Given the description of an element on the screen output the (x, y) to click on. 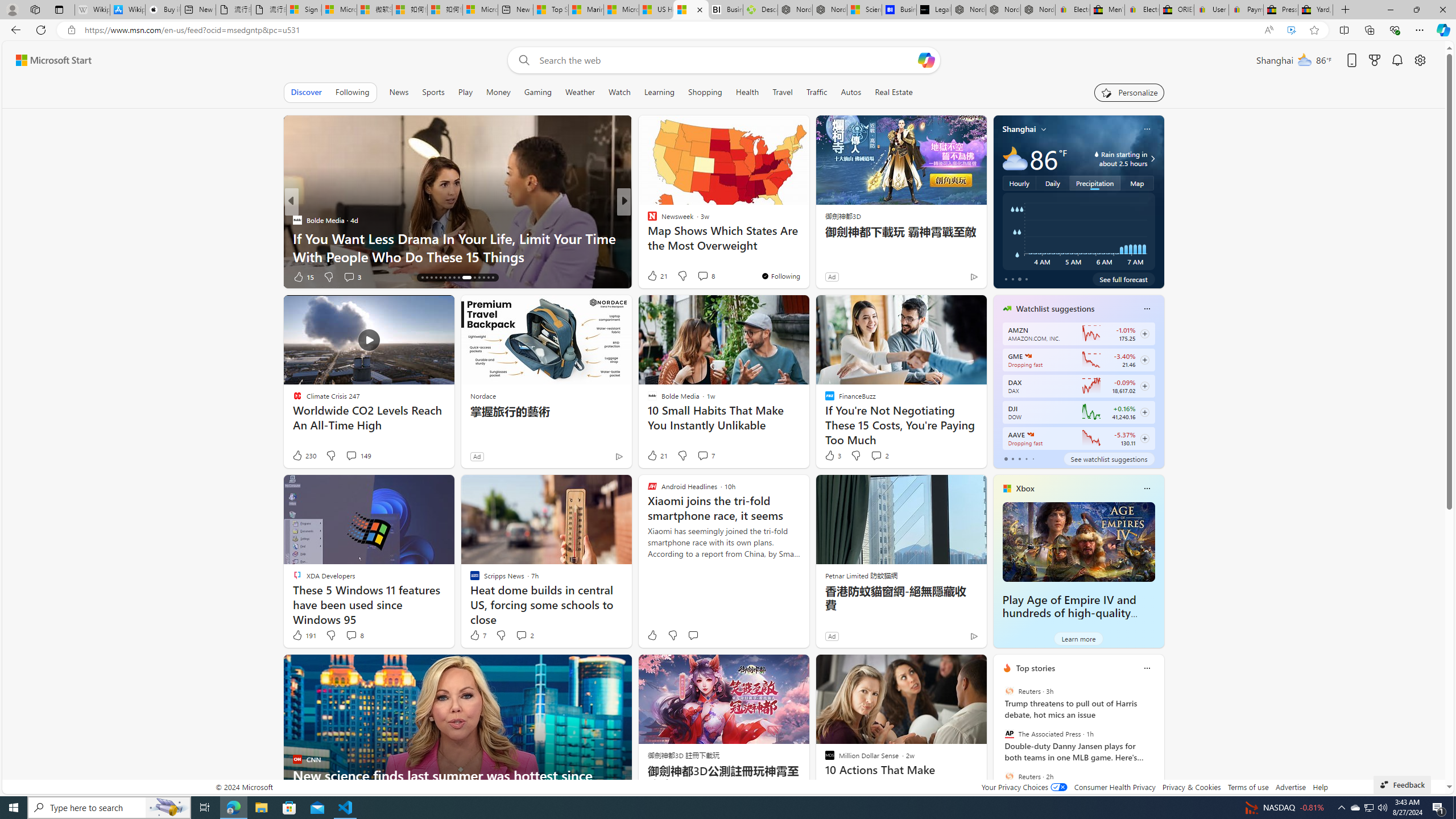
AutomationID: tab-30 (492, 277)
230 Like (303, 455)
Class: follow-button  m (1144, 438)
